Given the description of an element on the screen output the (x, y) to click on. 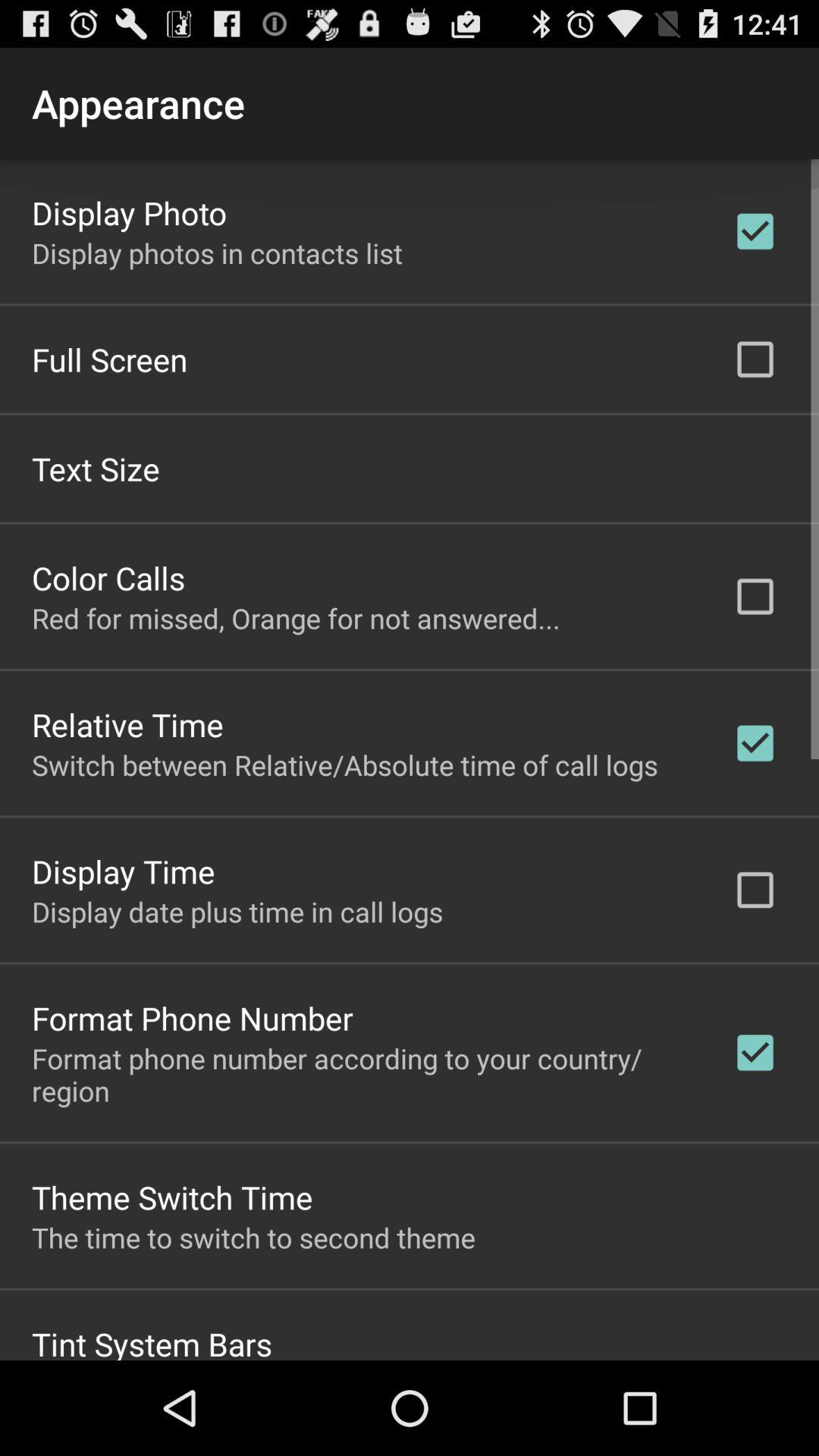
press the display photo item (128, 211)
